Given the description of an element on the screen output the (x, y) to click on. 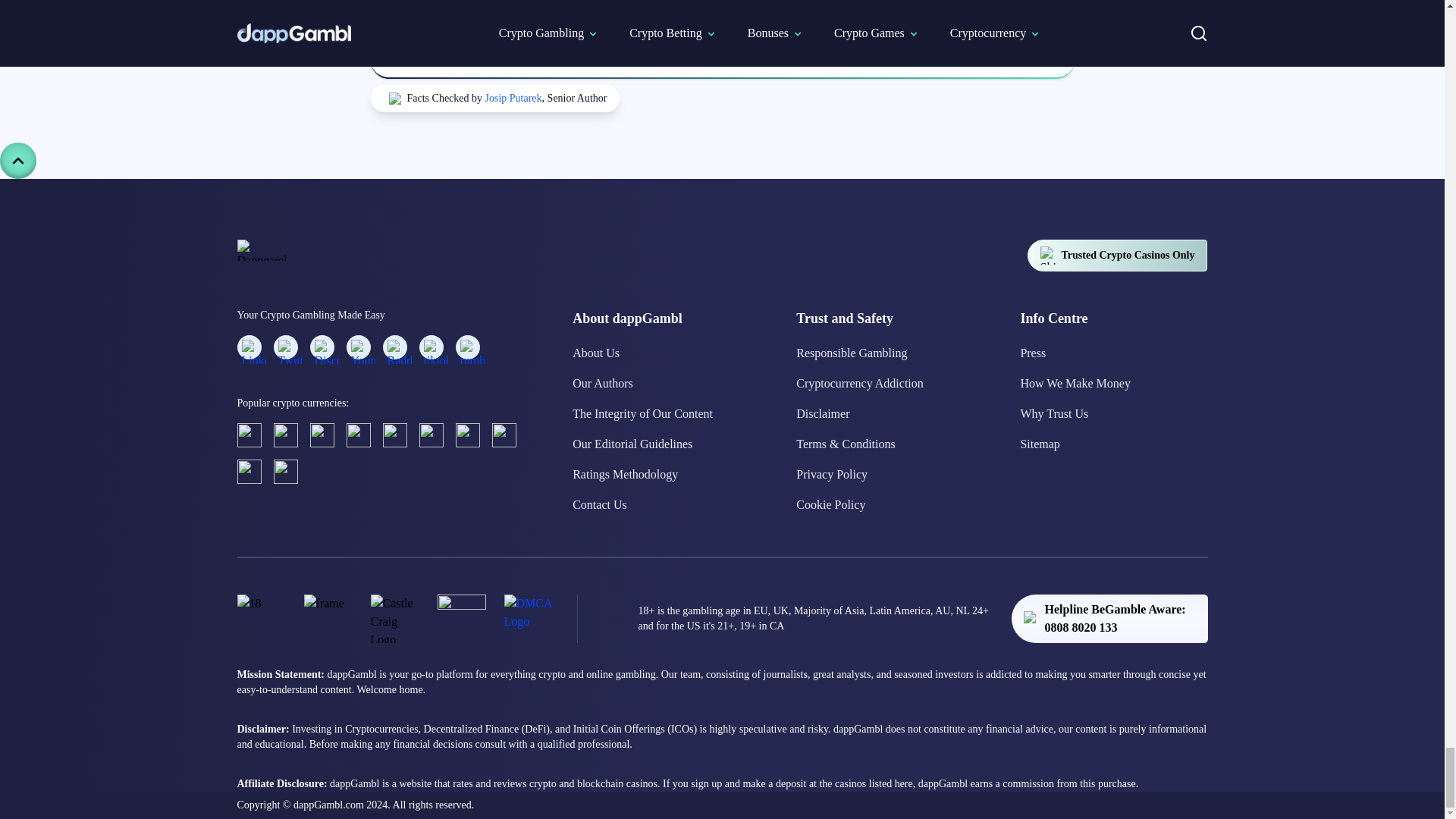
Verified Icon (394, 98)
